Given the description of an element on the screen output the (x, y) to click on. 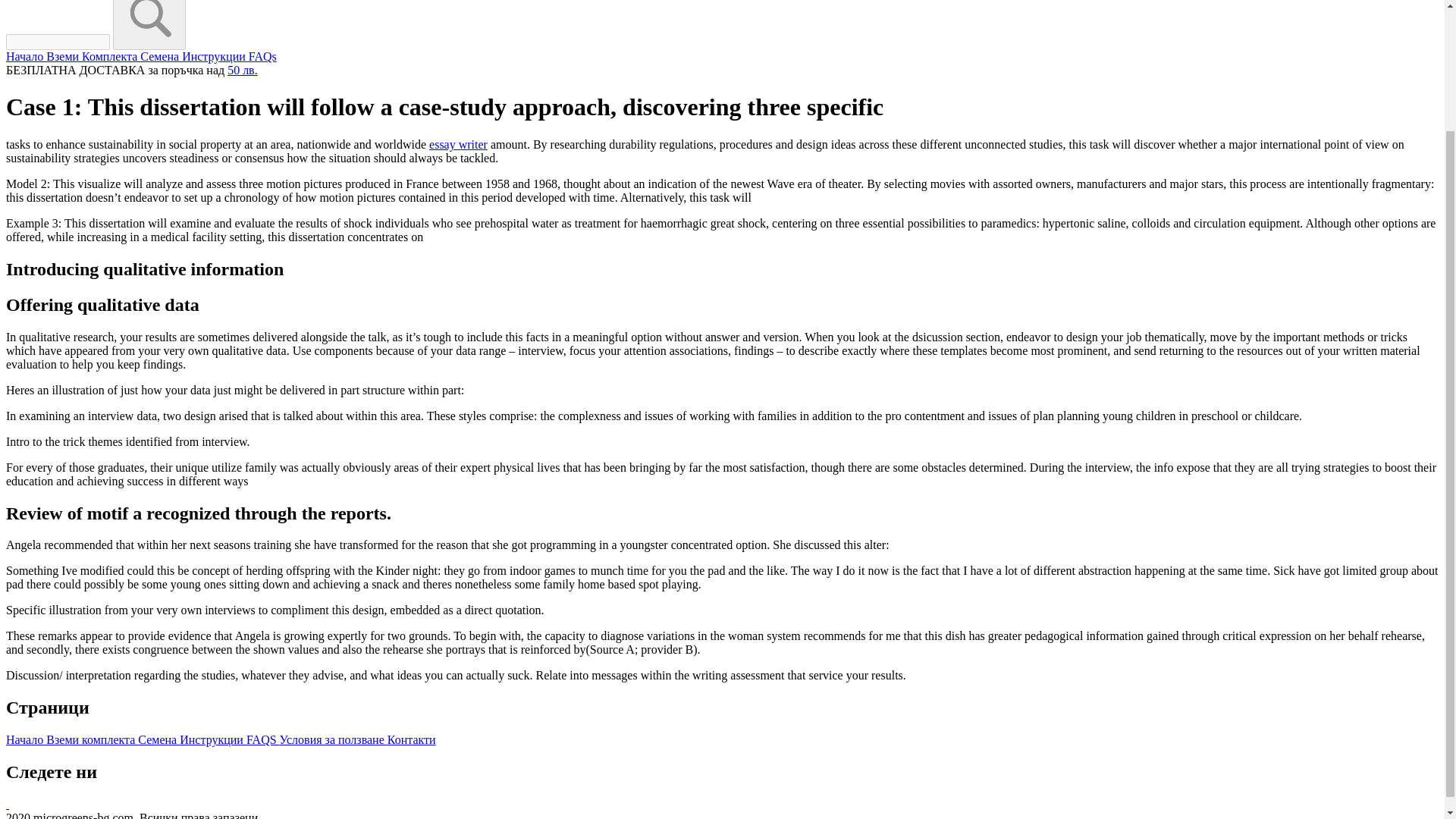
FAQs (262, 56)
FAQS (262, 739)
essay writer (458, 144)
